Given the description of an element on the screen output the (x, y) to click on. 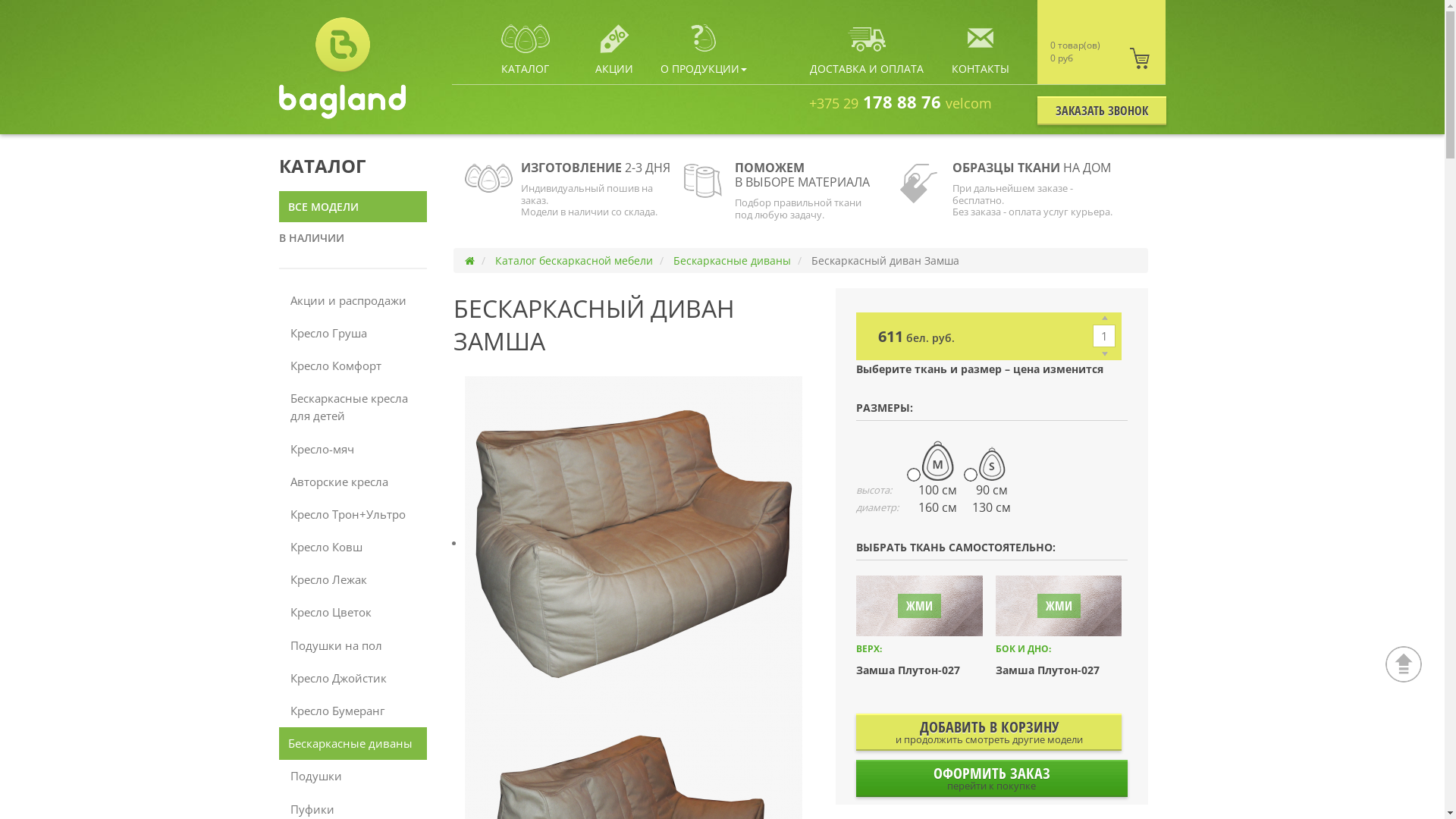
+375 29 178 88 76 velcom Element type: text (900, 101)
